Given the description of an element on the screen output the (x, y) to click on. 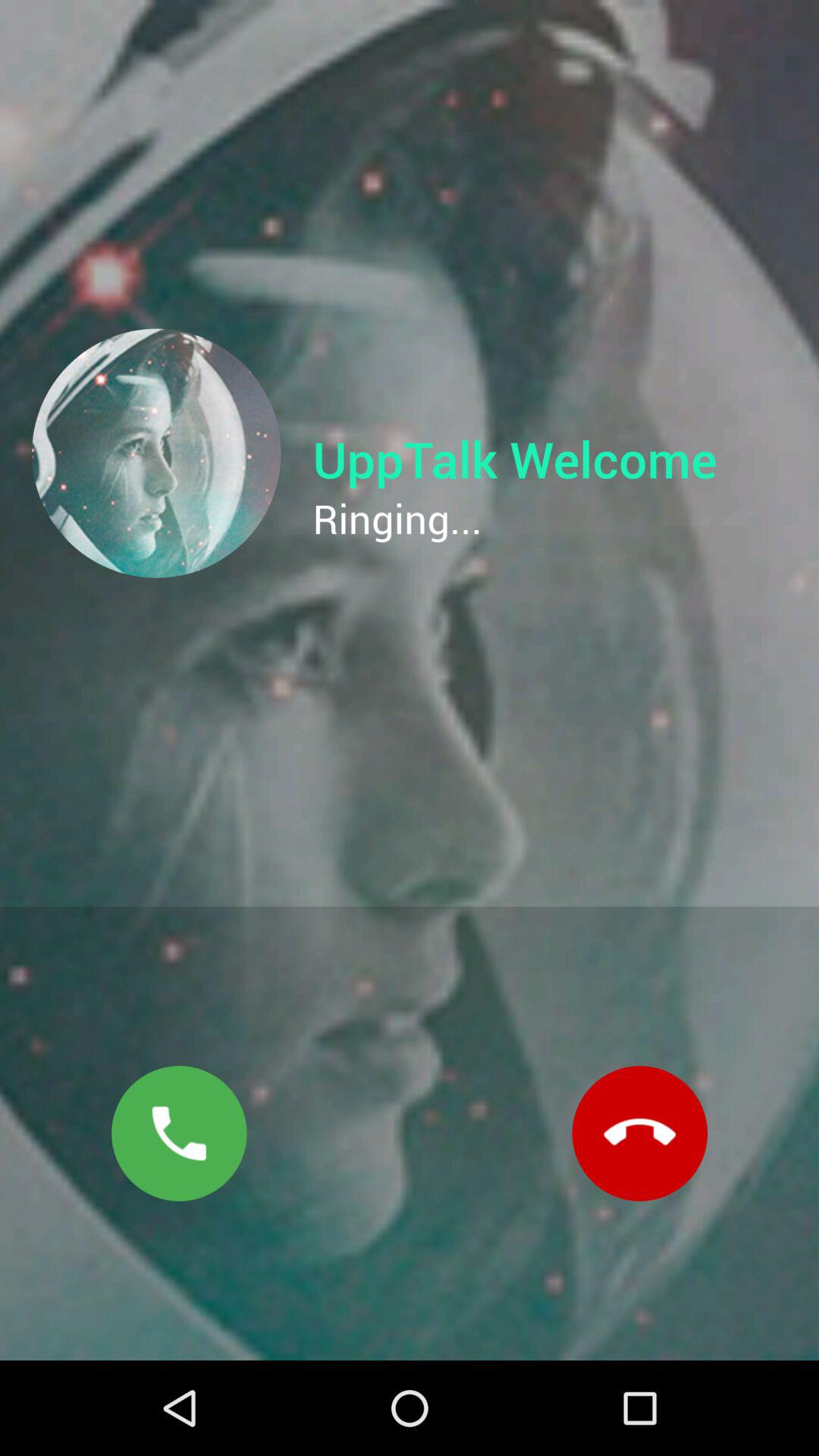
hang up (639, 1133)
